Given the description of an element on the screen output the (x, y) to click on. 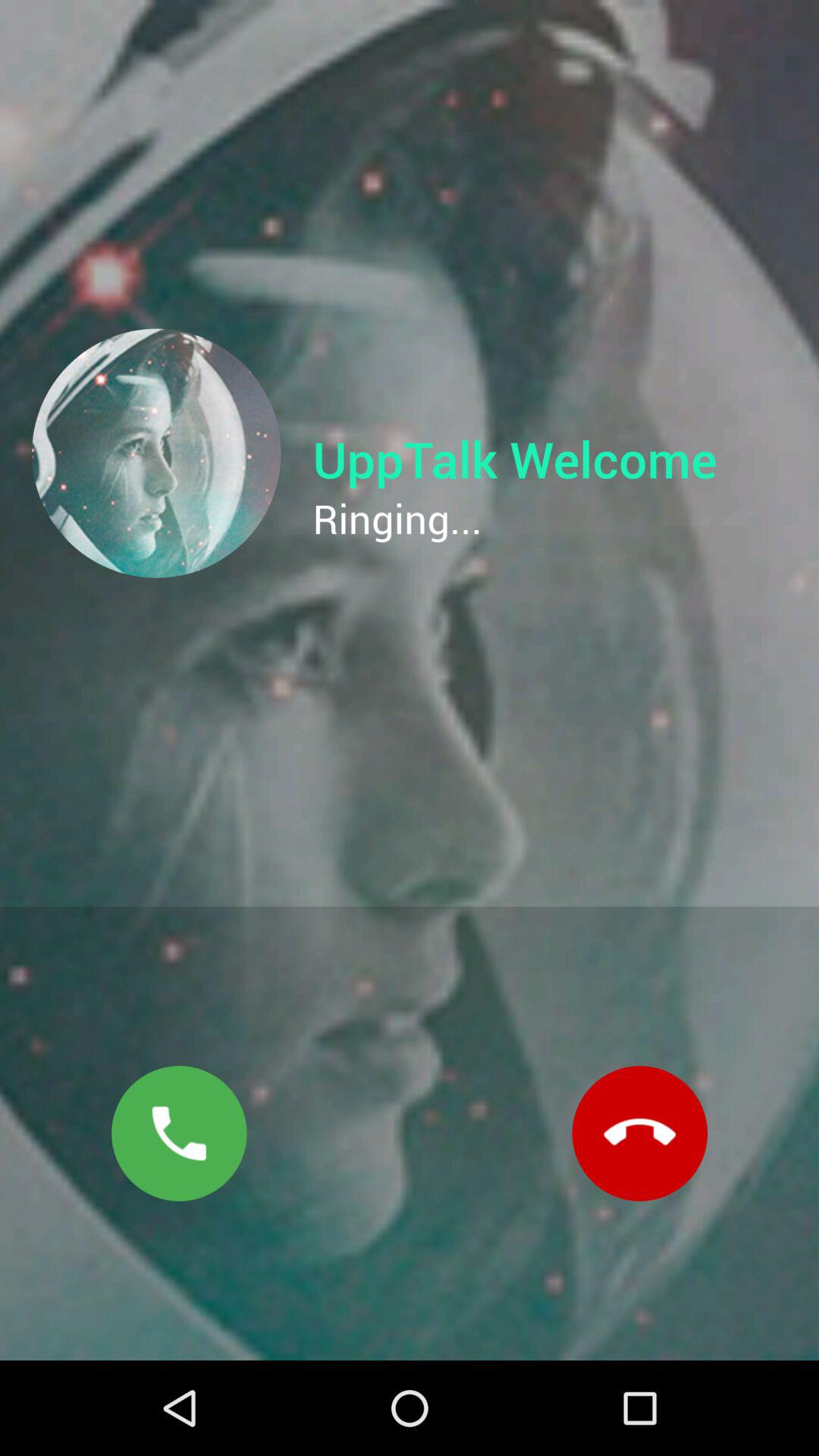
hang up (639, 1133)
